Given the description of an element on the screen output the (x, y) to click on. 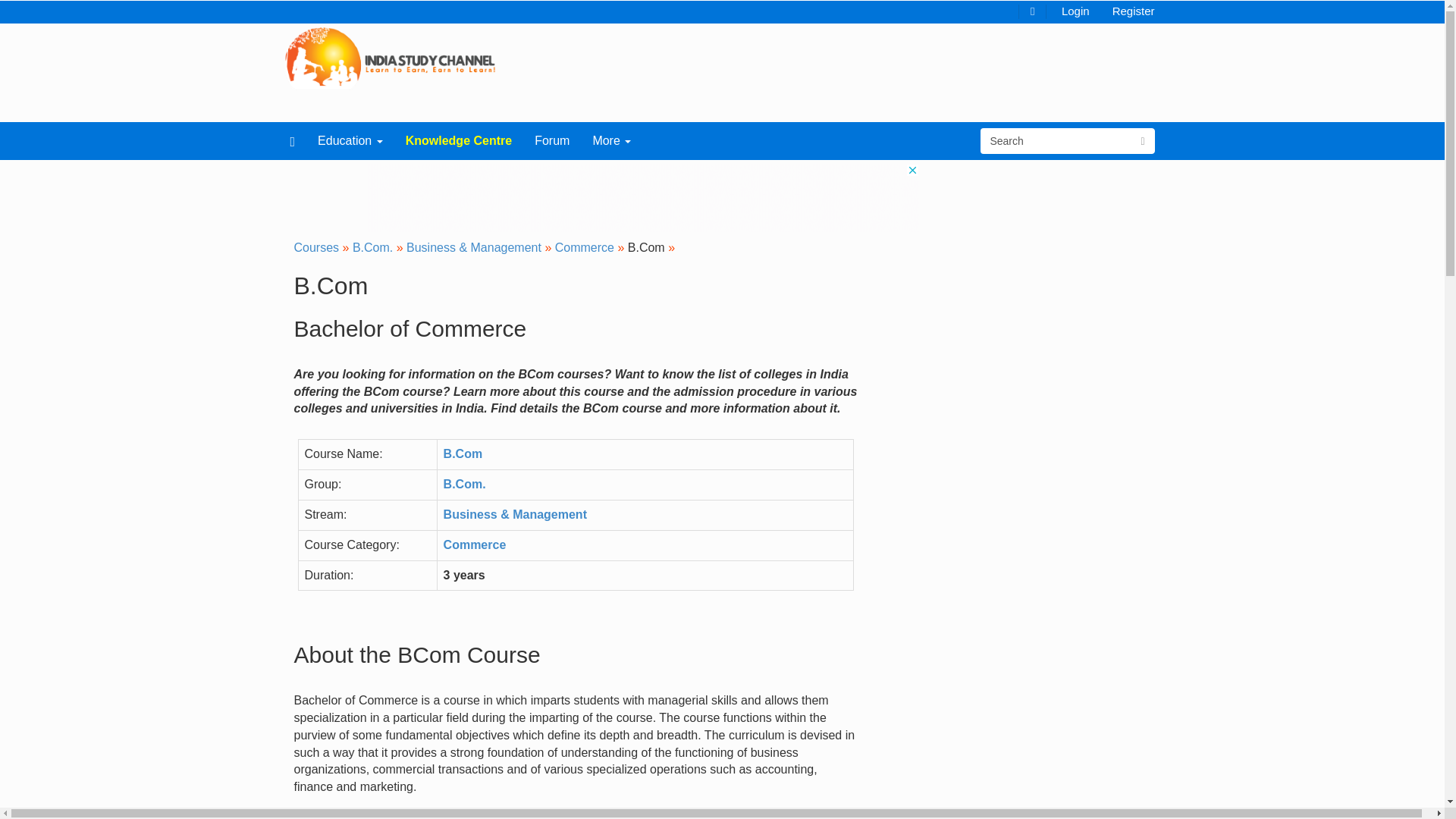
Search (1055, 140)
Education (349, 140)
Register (1133, 9)
Login (1074, 9)
3rd party ad content (642, 197)
